Given the description of an element on the screen output the (x, y) to click on. 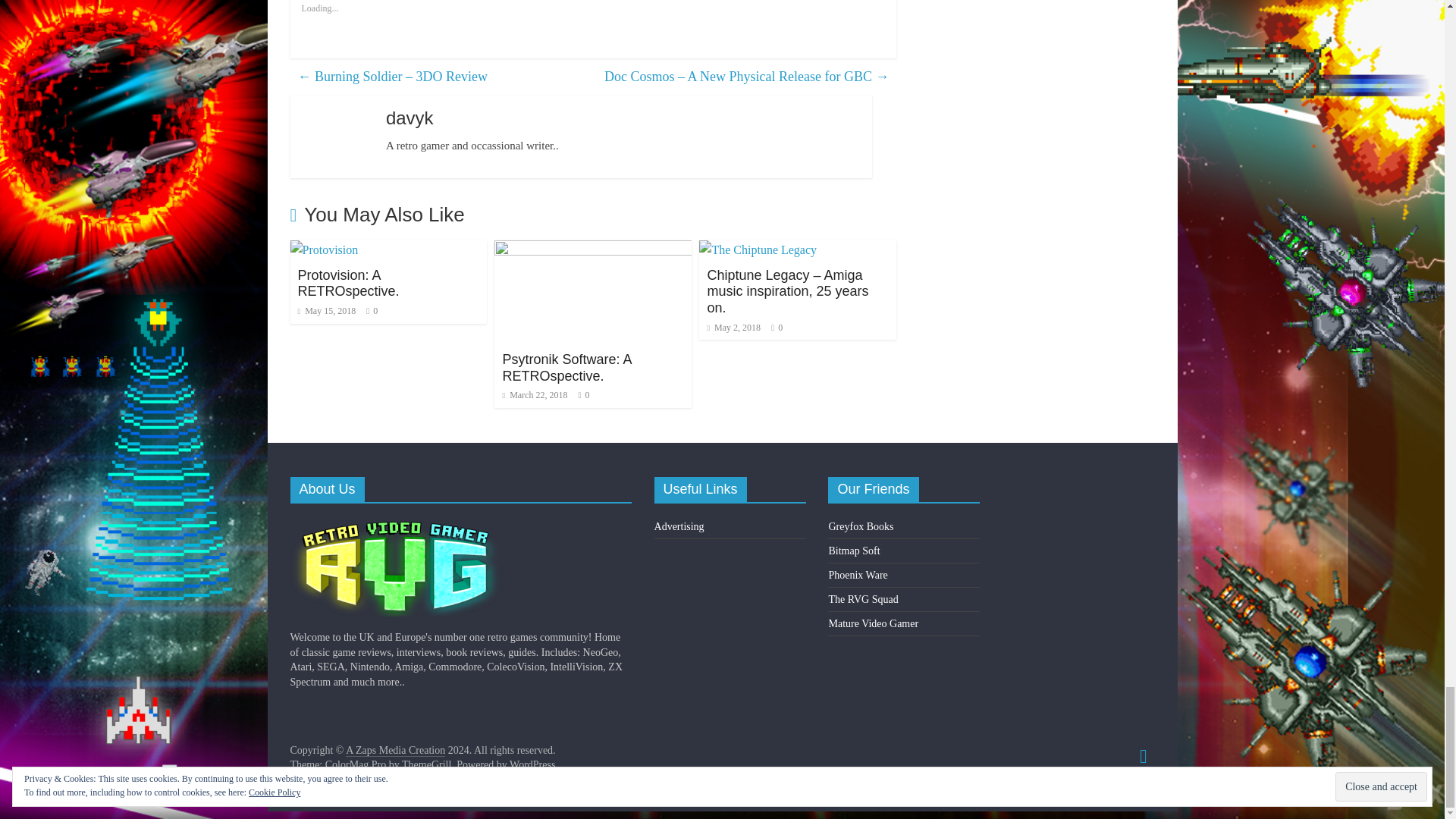
8:55 am (534, 394)
Psytronik Software: A RETROspective. (593, 249)
Psytronik Software: A RETROspective. (566, 368)
Protovision: A RETROspective. (347, 283)
7:57 pm (326, 310)
Protovision: A RETROspective. (323, 249)
